Given the description of an element on the screen output the (x, y) to click on. 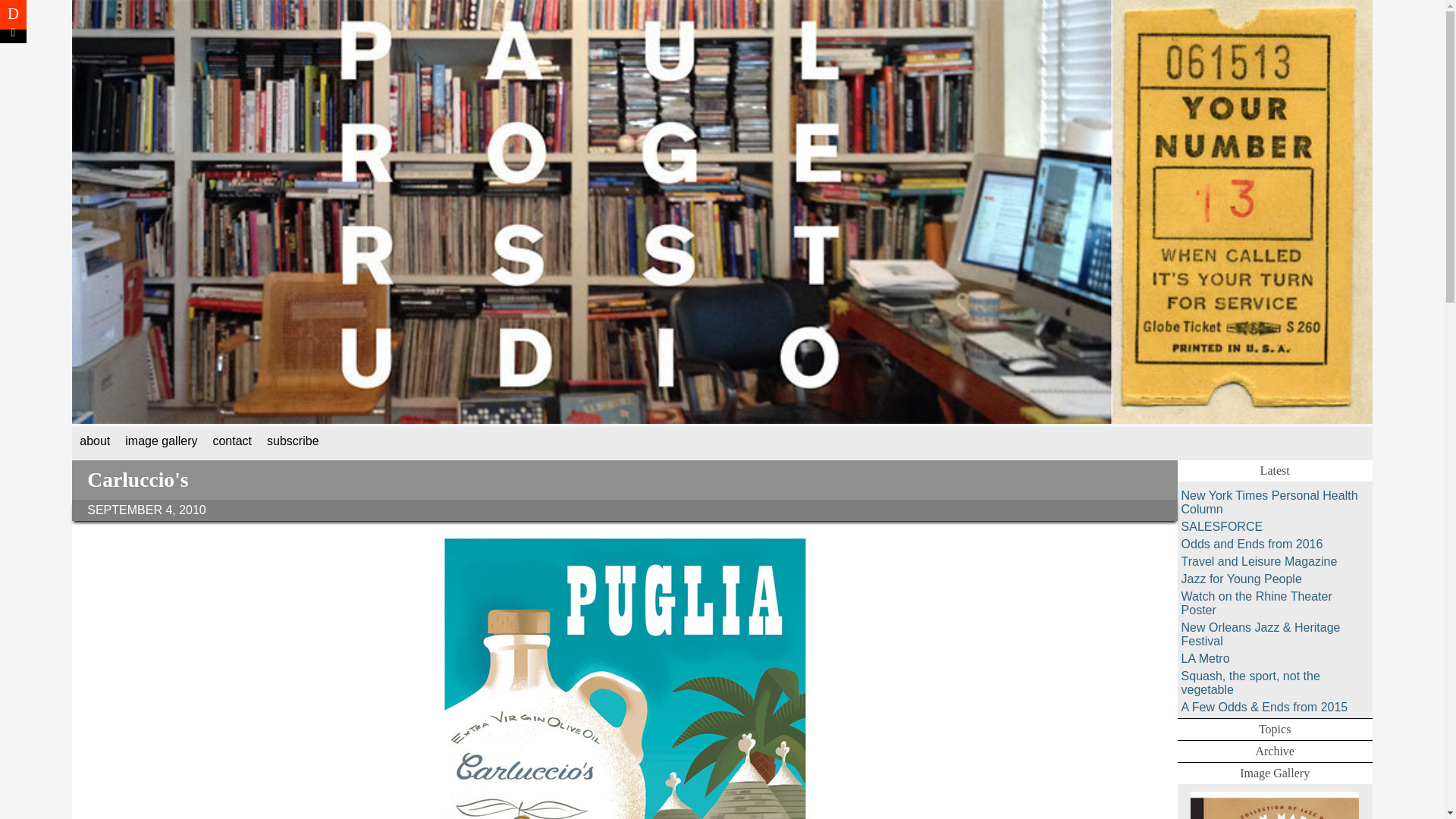
about (95, 443)
Travel and Leisure Magazine (1274, 561)
D (13, 14)
log in (13, 32)
image gallery (160, 443)
contact (231, 443)
Jazz for Young People (1274, 579)
SALESFORCE (1274, 526)
Squash, the sport, not the vegetable (1274, 682)
New York Times Personal Health Column (1274, 502)
Jazz ABZ (1274, 805)
LA Metro (1274, 658)
Watch on the Rhine Theater Poster (1274, 603)
Odds and Ends from 2016 (1274, 544)
subscribe (292, 443)
